Given the description of an element on the screen output the (x, y) to click on. 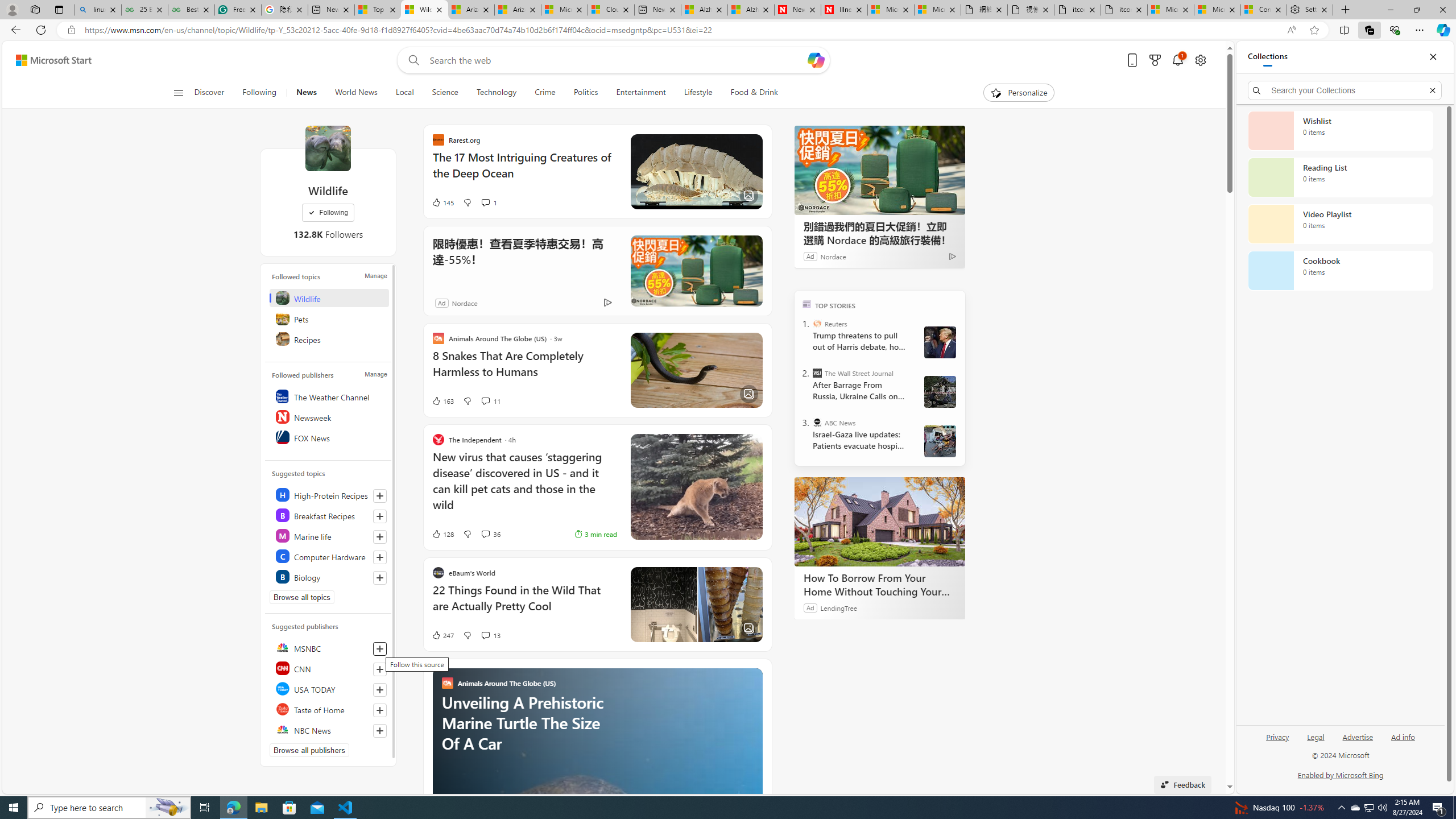
8 Snakes That Are Completely Harmless to Humans (524, 369)
Consumer Health Data Privacy Policy (1263, 9)
itconcepthk.com/projector_solutions.mp4 (1123, 9)
Follow this source (379, 730)
